Given the description of an element on the screen output the (x, y) to click on. 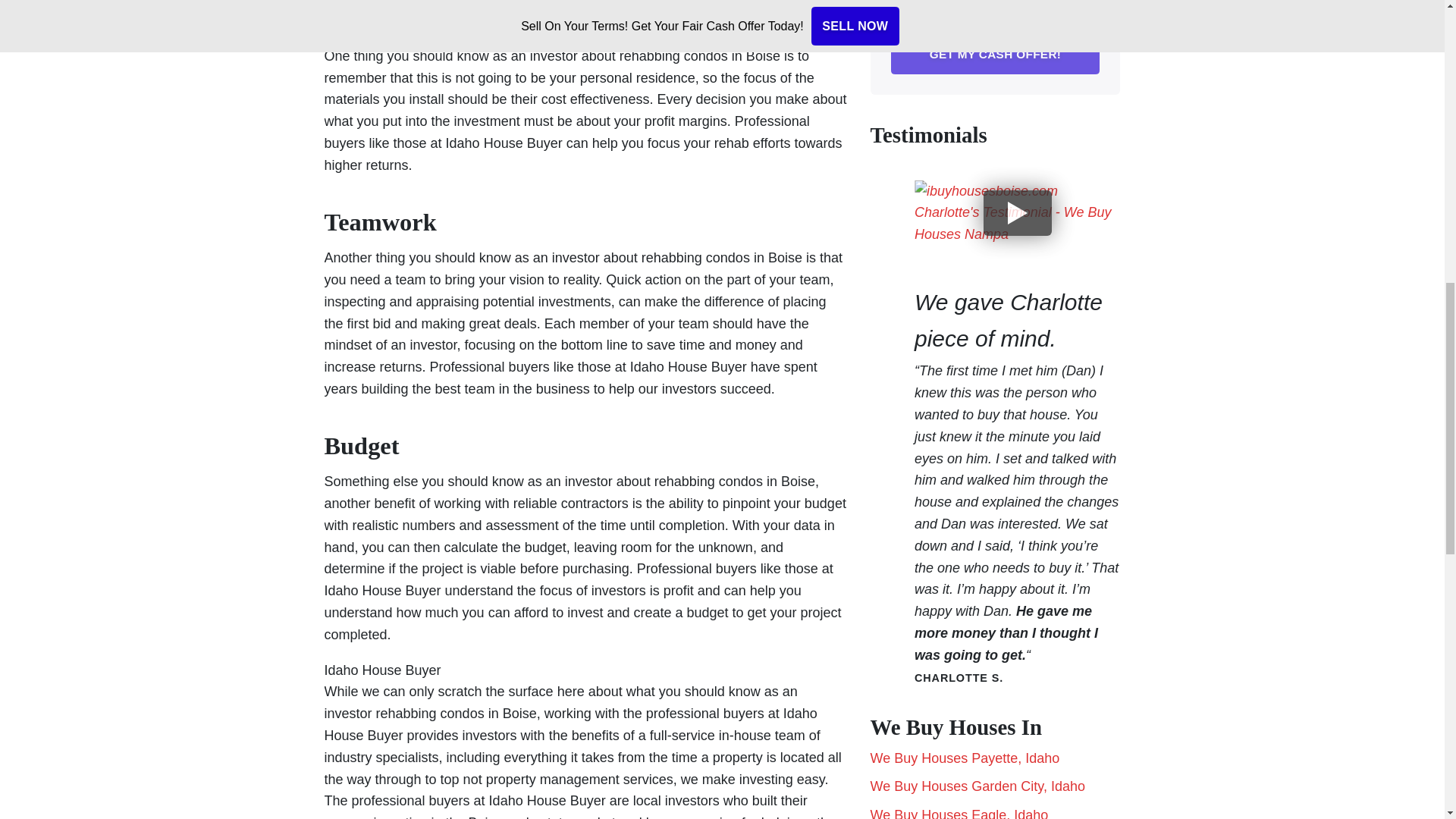
Get My Cash Offer! (994, 54)
We Buy Houses Payette, Idaho (964, 758)
We Buy Houses Garden City, Idaho (977, 785)
Get My Cash Offer! (994, 54)
